Given the description of an element on the screen output the (x, y) to click on. 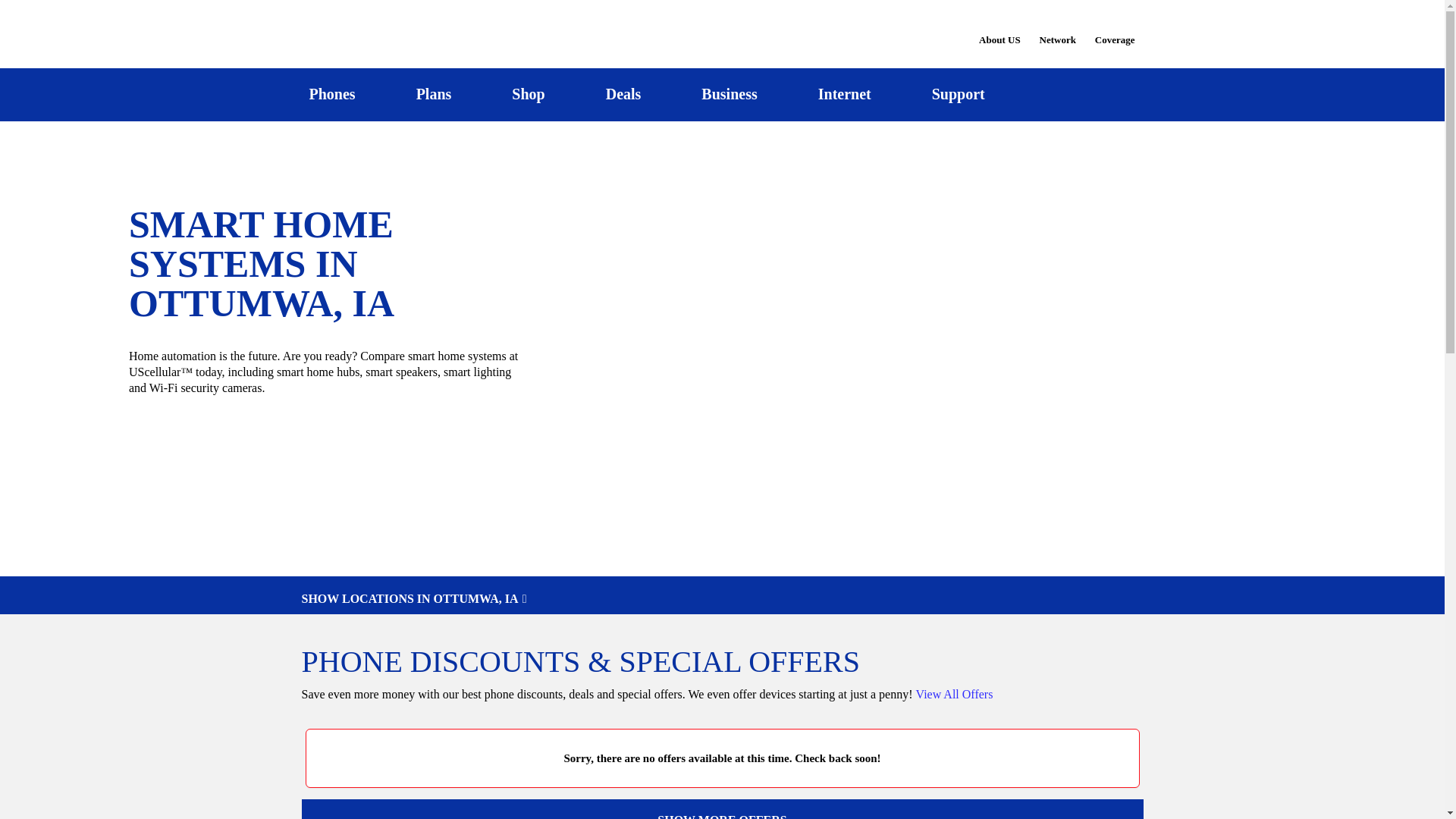
Shop (528, 94)
SHOW LOCATIONS IN OTTUMWA, IA (722, 598)
About US (999, 30)
Coverage (1115, 29)
Support (957, 94)
Phones (332, 94)
Plans (433, 94)
Network (1057, 30)
Business (729, 94)
Internet (844, 94)
Deals (623, 94)
